Given the description of an element on the screen output the (x, y) to click on. 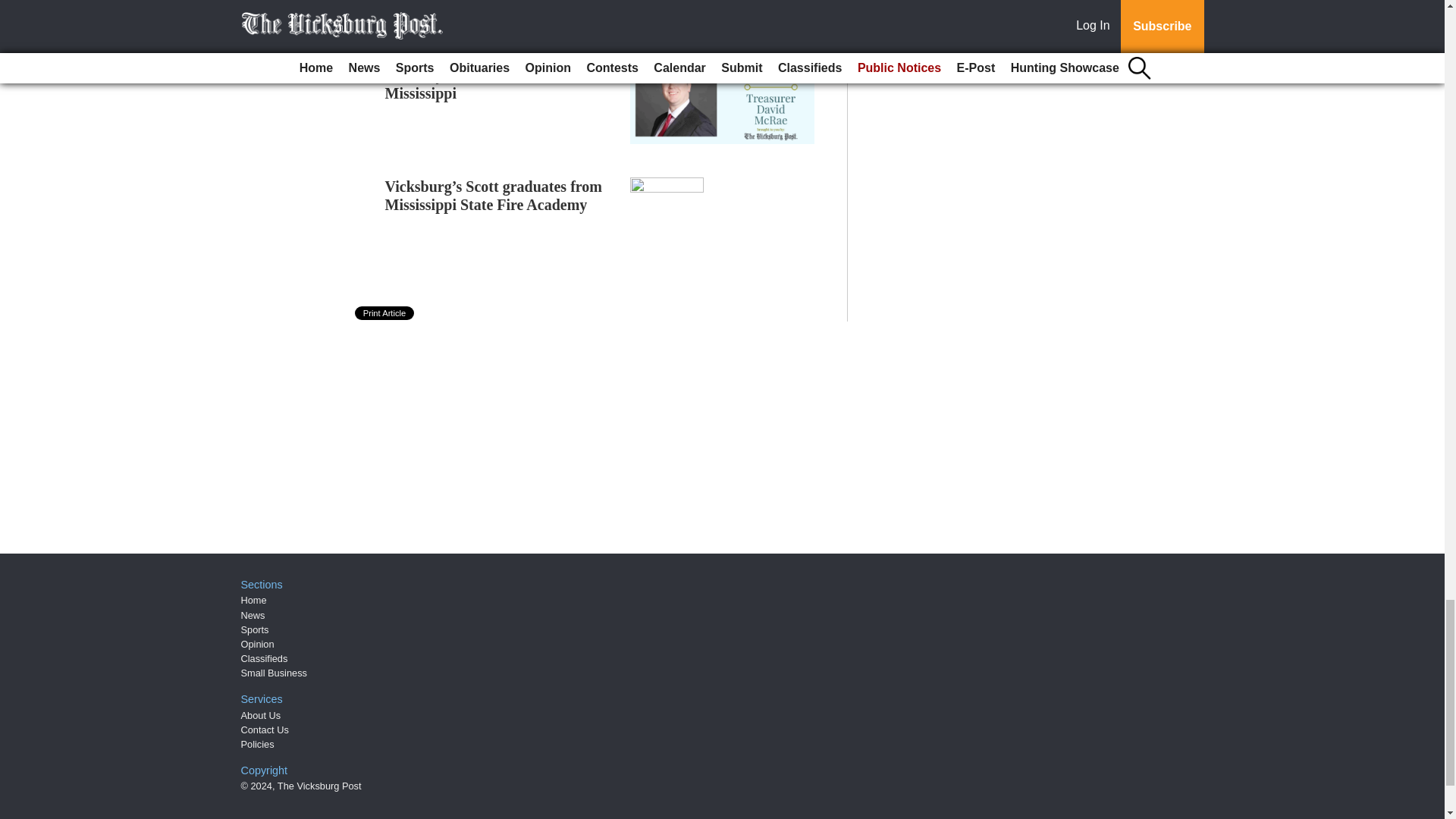
Print Article (384, 313)
